Given the description of an element on the screen output the (x, y) to click on. 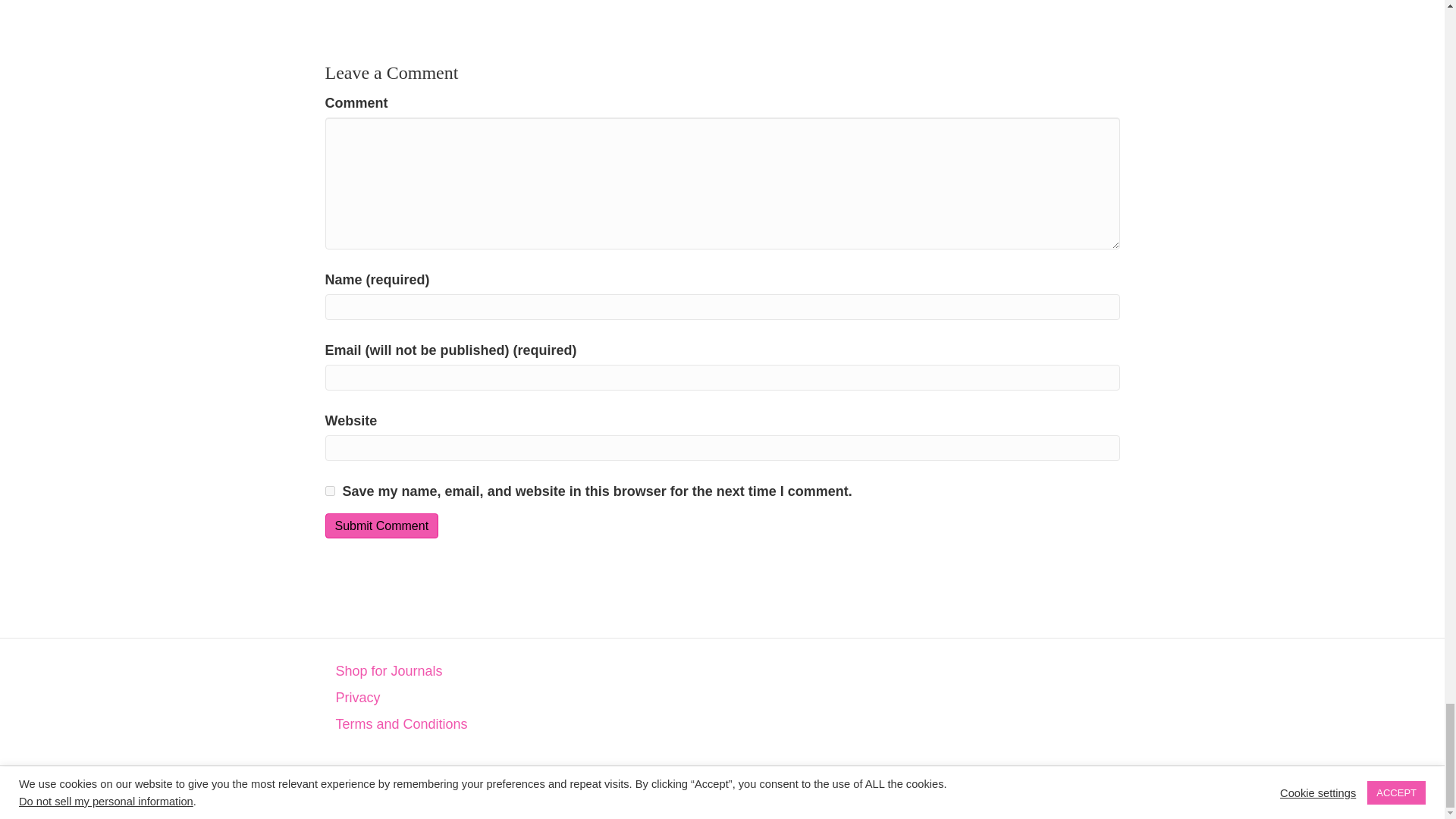
Submit Comment (381, 525)
yes (329, 491)
